Given the description of an element on the screen output the (x, y) to click on. 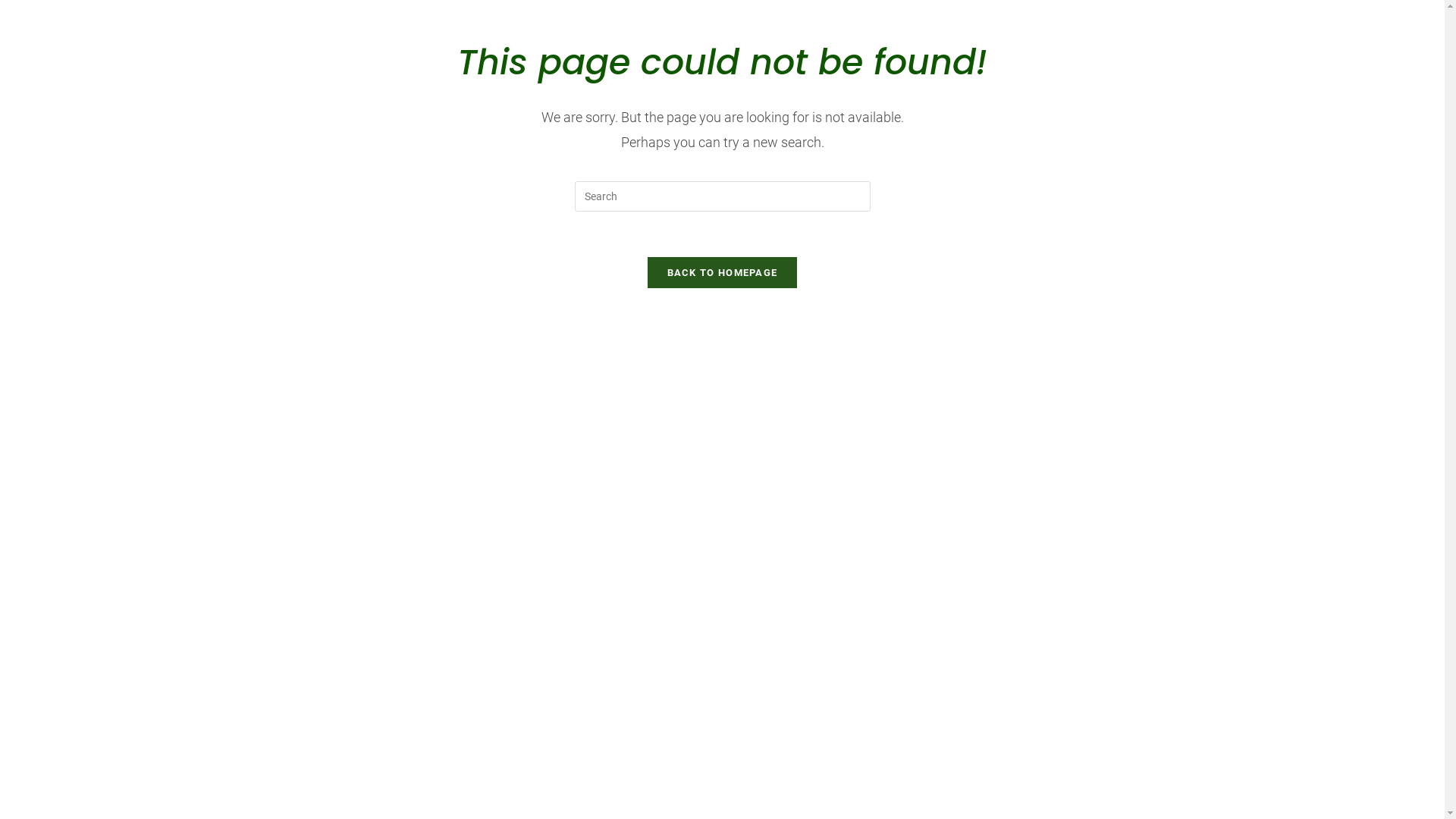
BACK TO HOMEPAGE Element type: text (722, 272)
